Given the description of an element on the screen output the (x, y) to click on. 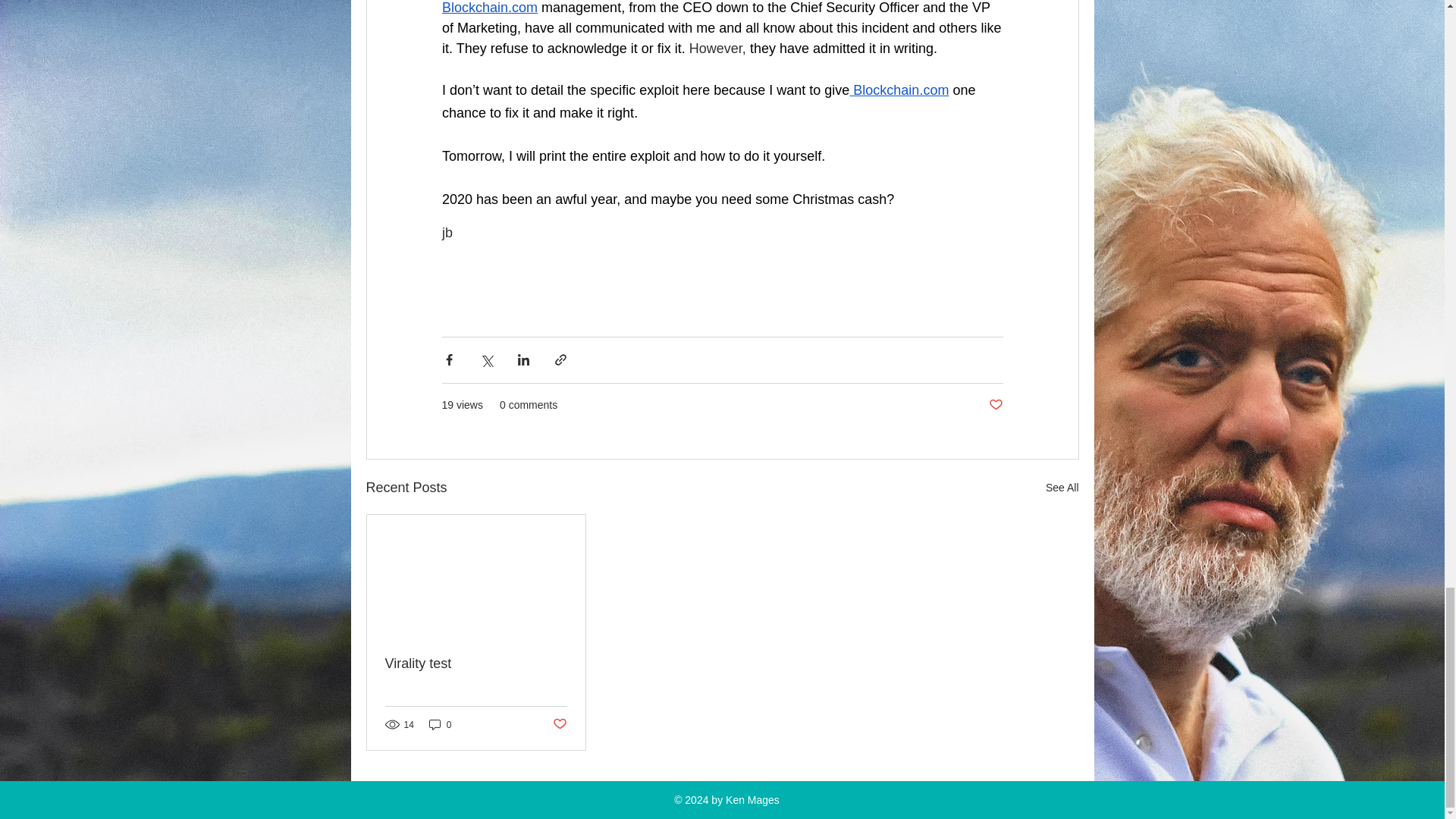
See All (1061, 487)
Blockchain.com (489, 7)
0 (440, 724)
Virality test (476, 663)
 Blockchain.com (898, 89)
Post not marked as liked (558, 724)
Post not marked as liked (995, 405)
